Given the description of an element on the screen output the (x, y) to click on. 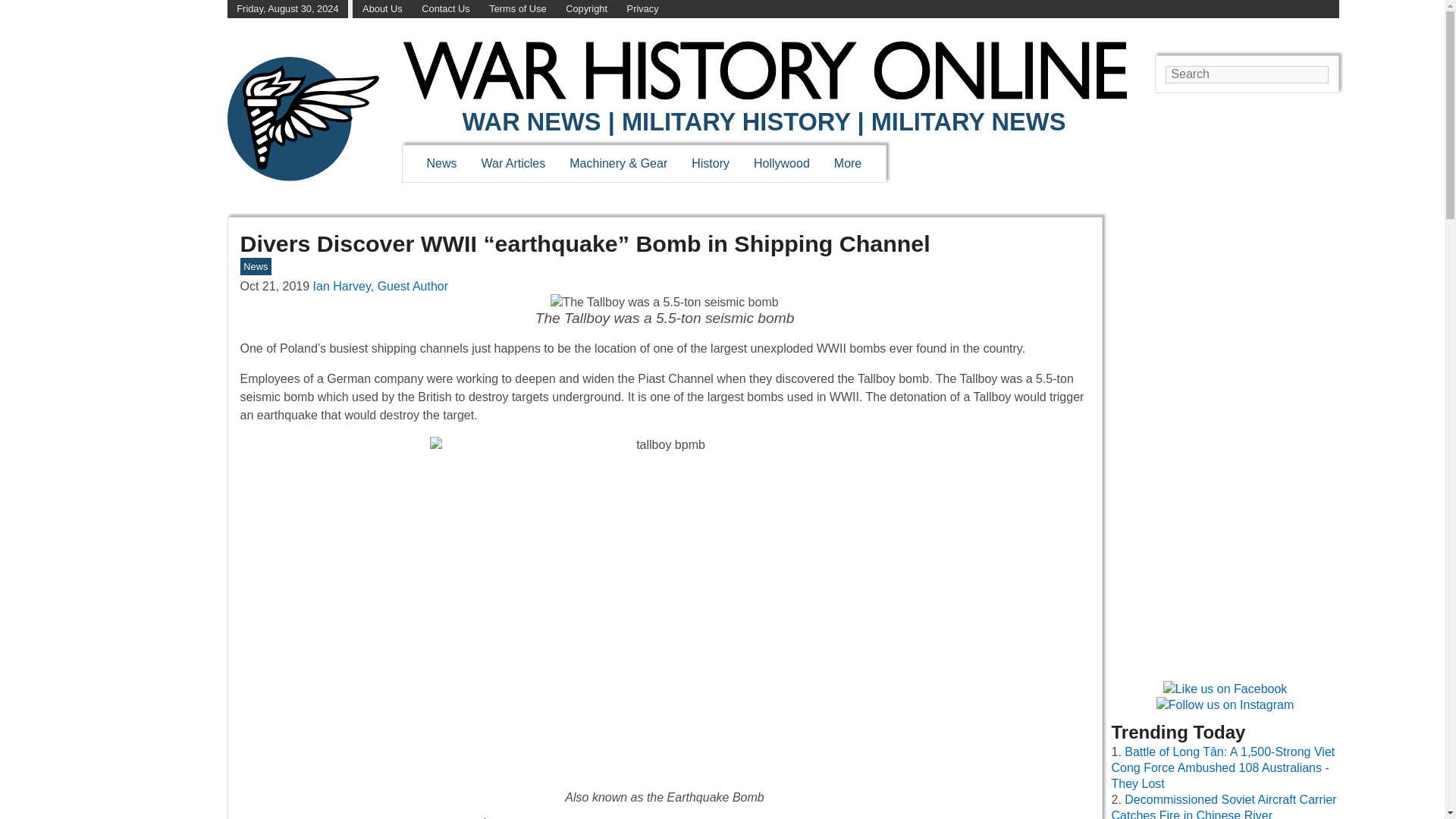
Hollywood (781, 163)
More (847, 163)
About Us (382, 8)
News (441, 163)
Privacy (643, 8)
War Articles (513, 163)
Copyright (586, 8)
History (710, 163)
The Tallboy was a 5.5-ton seismic bomb (664, 310)
Terms of Use (517, 8)
